Given the description of an element on the screen output the (x, y) to click on. 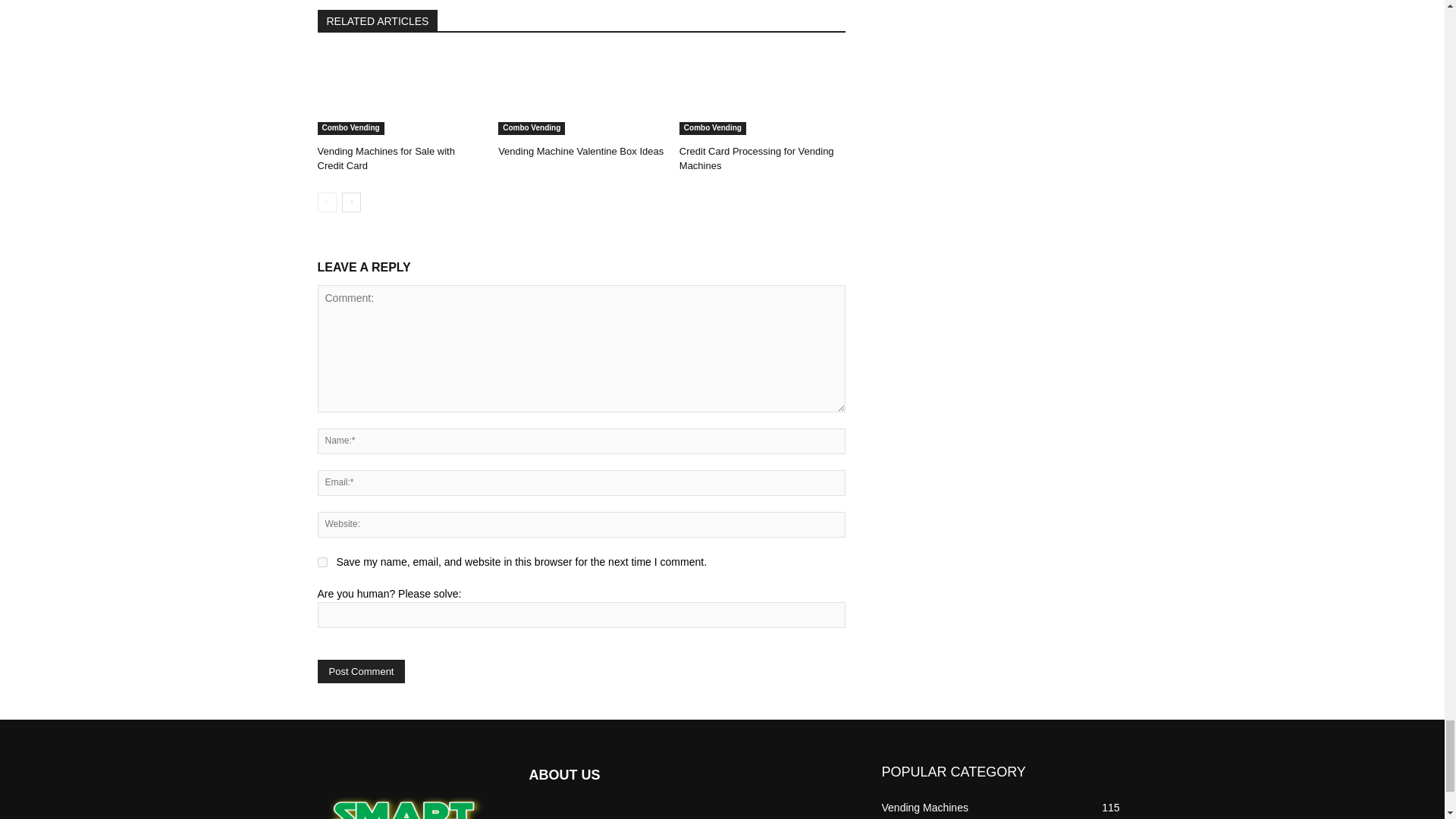
yes (321, 562)
Post Comment (360, 671)
